Given the description of an element on the screen output the (x, y) to click on. 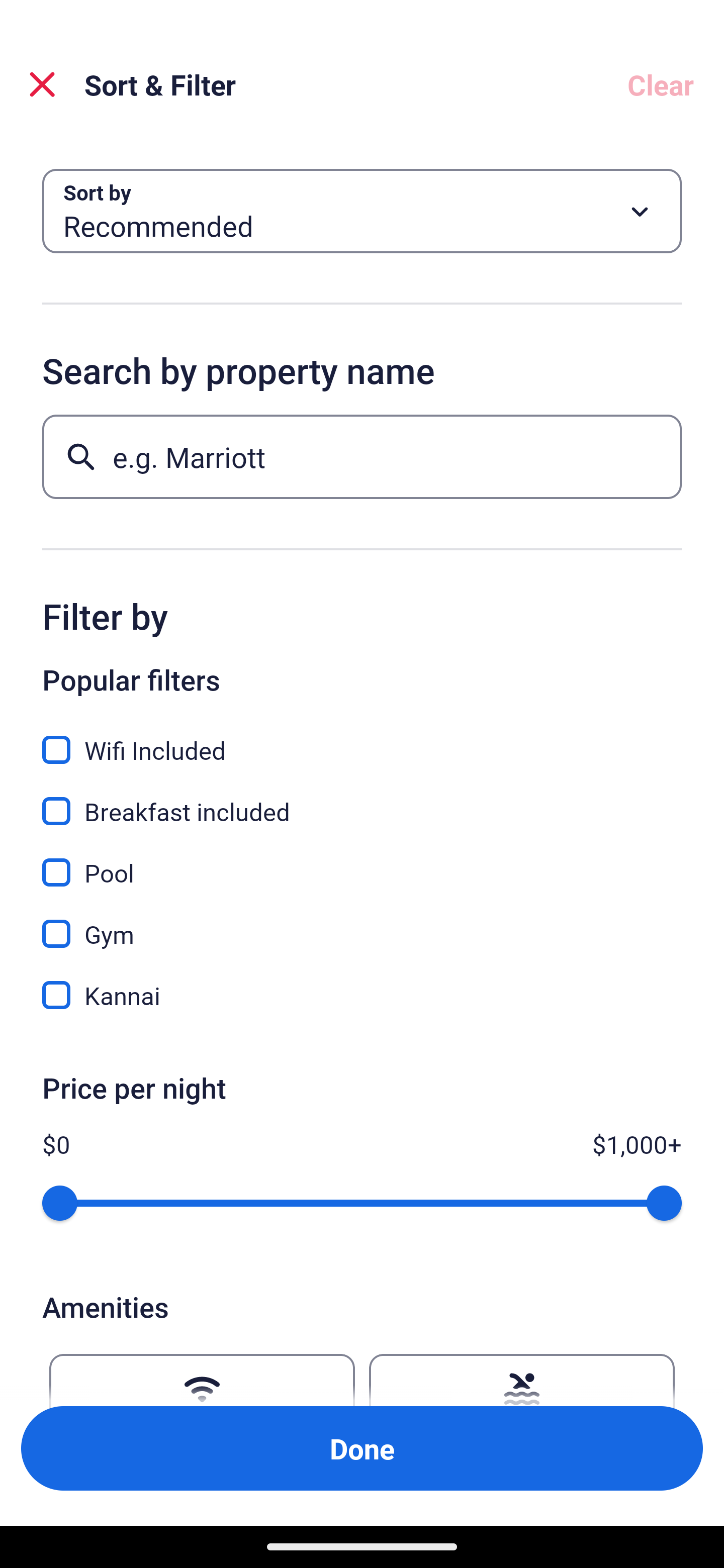
Close Sort and Filter (42, 84)
Clear (660, 84)
Sort by Button Recommended (361, 211)
e.g. Marriott Button (361, 455)
Wifi Included, Wifi Included (361, 738)
Breakfast included, Breakfast included (361, 800)
Pool, Pool (361, 861)
Gym, Gym (361, 922)
Kannai, Kannai (361, 995)
Apply and close Sort and Filter Done (361, 1448)
